Given the description of an element on the screen output the (x, y) to click on. 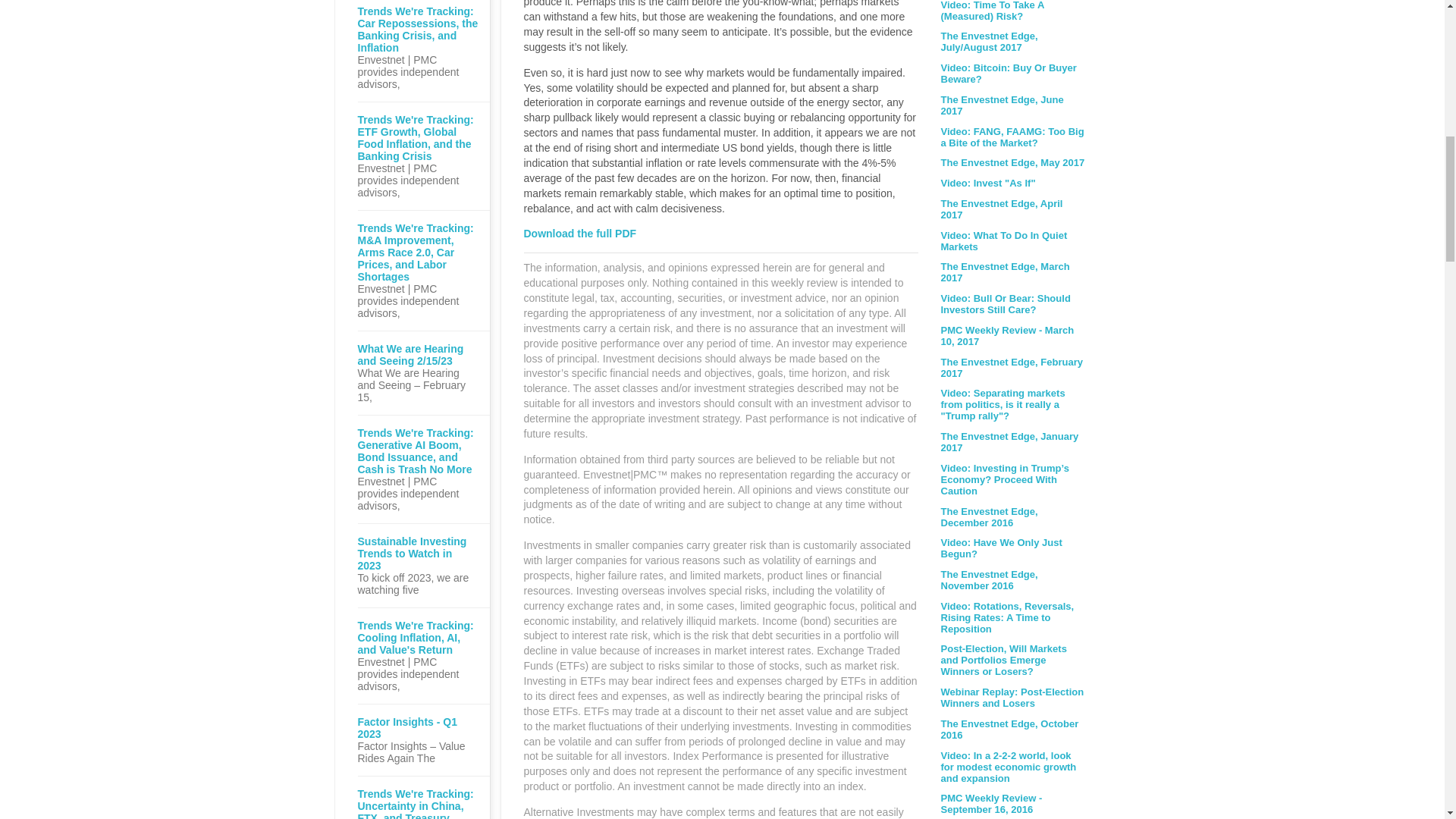
Factor Insights - Q1 2023 (418, 727)
Sustainable Investing Trends to Watch in 2023 (418, 553)
